Given the description of an element on the screen output the (x, y) to click on. 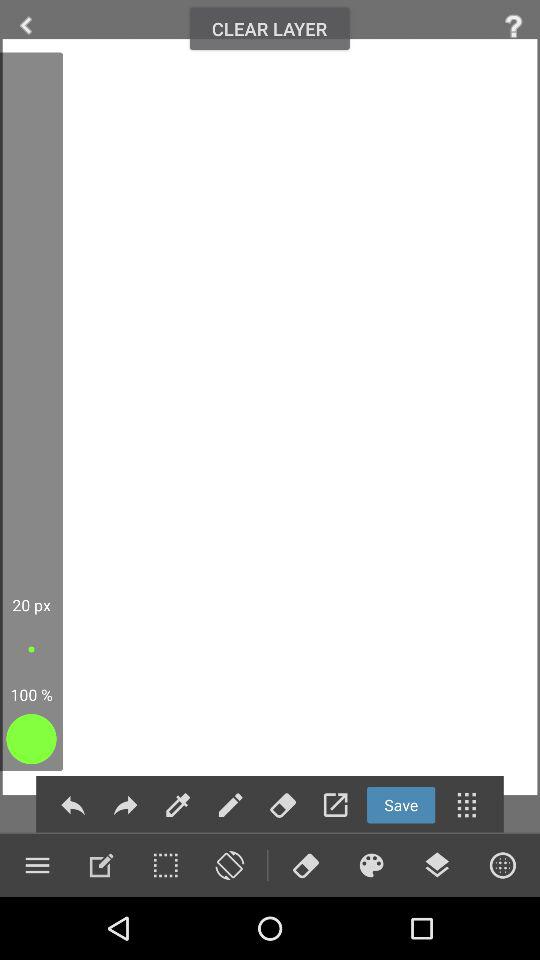
toggle menu (37, 865)
